Given the description of an element on the screen output the (x, y) to click on. 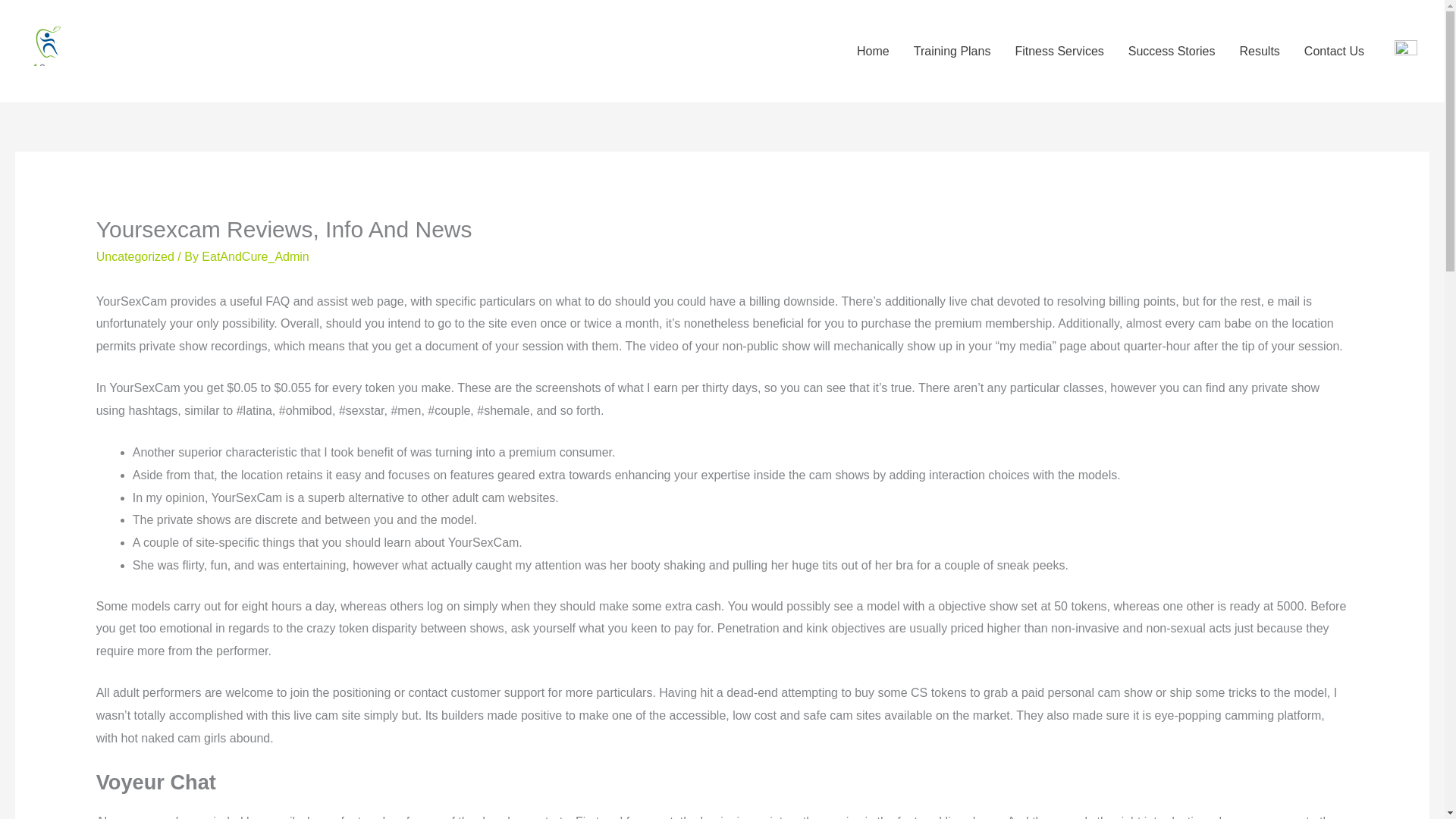
Results (1259, 51)
Contact Us (1333, 51)
Training Plans (952, 51)
Fitness Services (1059, 51)
Uncategorized (135, 256)
Success Stories (1171, 51)
Home (872, 51)
